Given the description of an element on the screen output the (x, y) to click on. 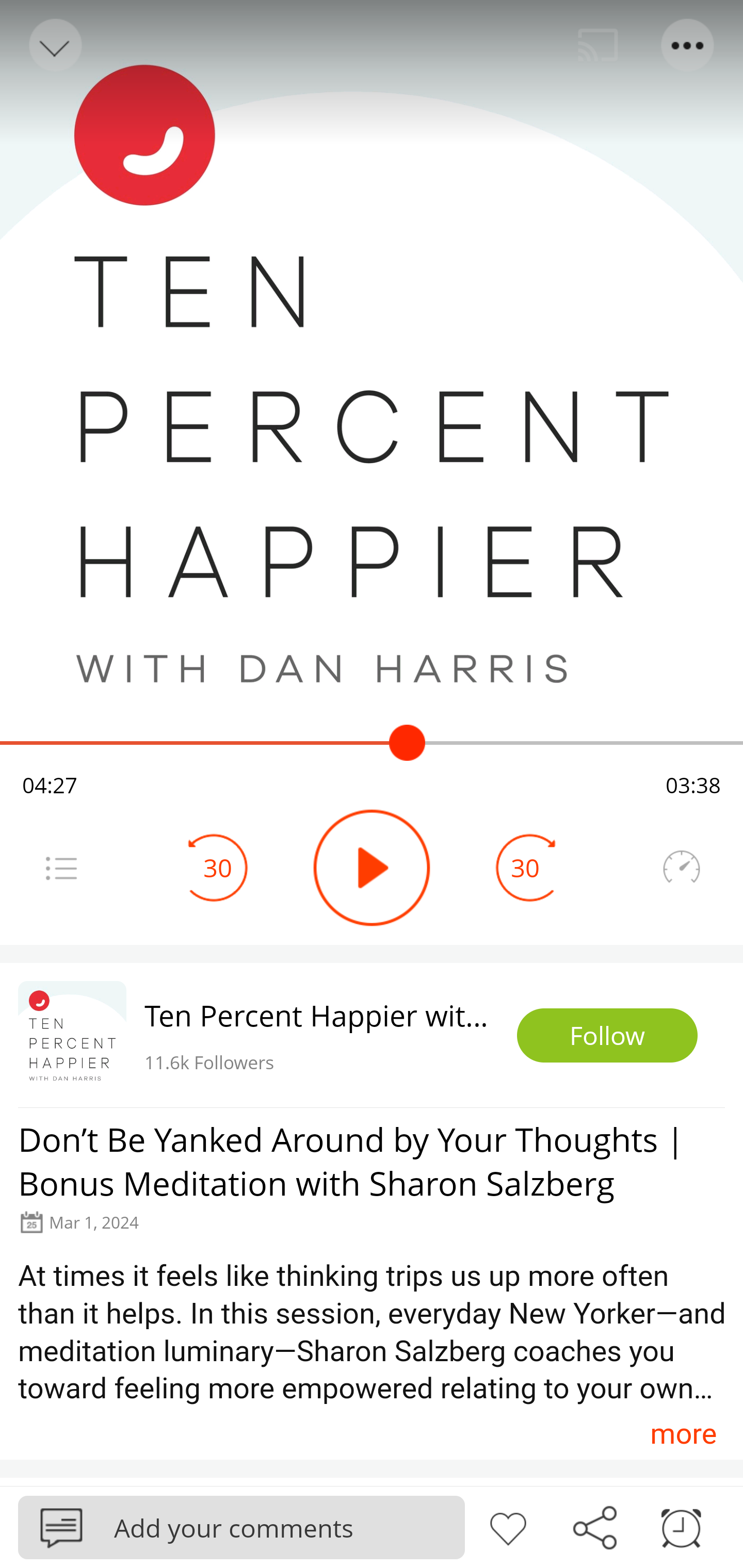
Back (53, 45)
Cast. Disconnected (597, 45)
Menu (688, 45)
Play (371, 867)
30 Seek Backward (217, 867)
30 Seek Forward (525, 867)
Menu (60, 867)
Speedometer (681, 867)
Follow (607, 1035)
more (682, 1432)
Like (508, 1526)
Share (594, 1526)
Sleep timer (681, 1526)
Podbean Add your comments (241, 1526)
